Given the description of an element on the screen output the (x, y) to click on. 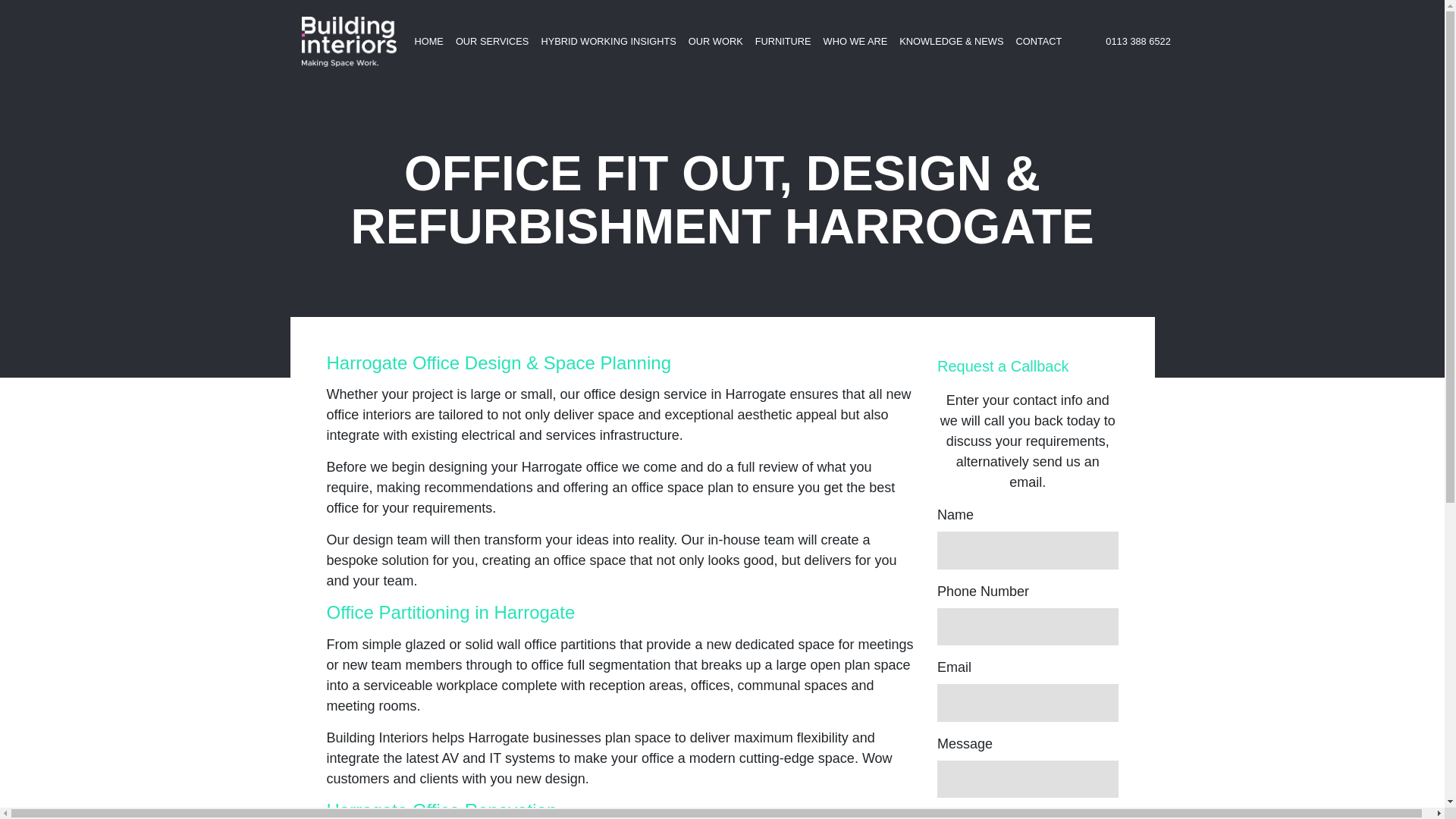
OUR WORK (715, 40)
FURNITURE (782, 40)
CONTACT (1038, 40)
Click Here to Request Callback (1027, 814)
0113 388 6522 (1137, 41)
OUR SERVICES (491, 40)
WHO WE ARE (854, 40)
HYBRID WORKING INSIGHTS (607, 40)
HOME (427, 40)
Click Here to Request Callback (1027, 814)
